Given the description of an element on the screen output the (x, y) to click on. 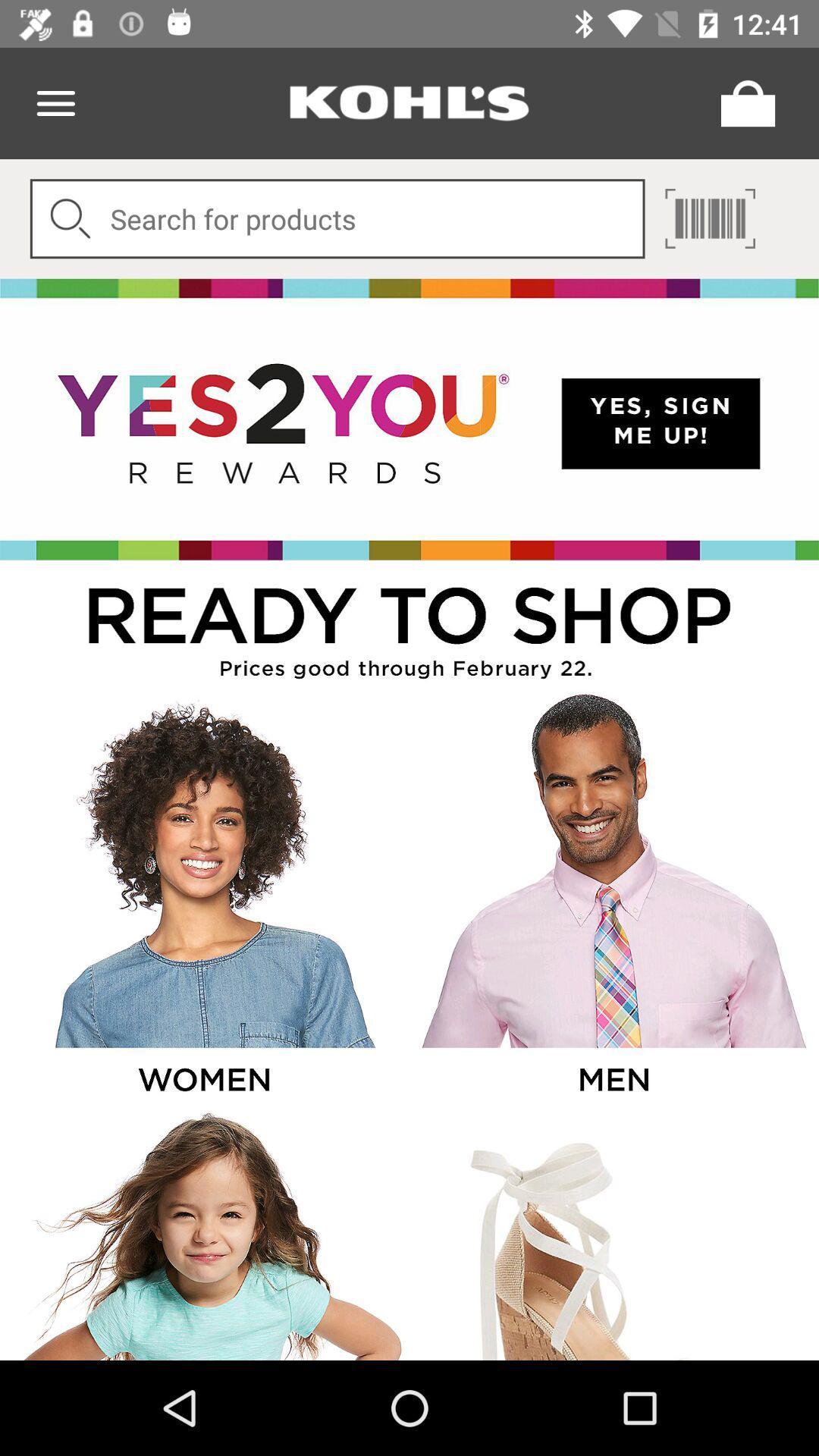
go to page (710, 218)
